Given the description of an element on the screen output the (x, y) to click on. 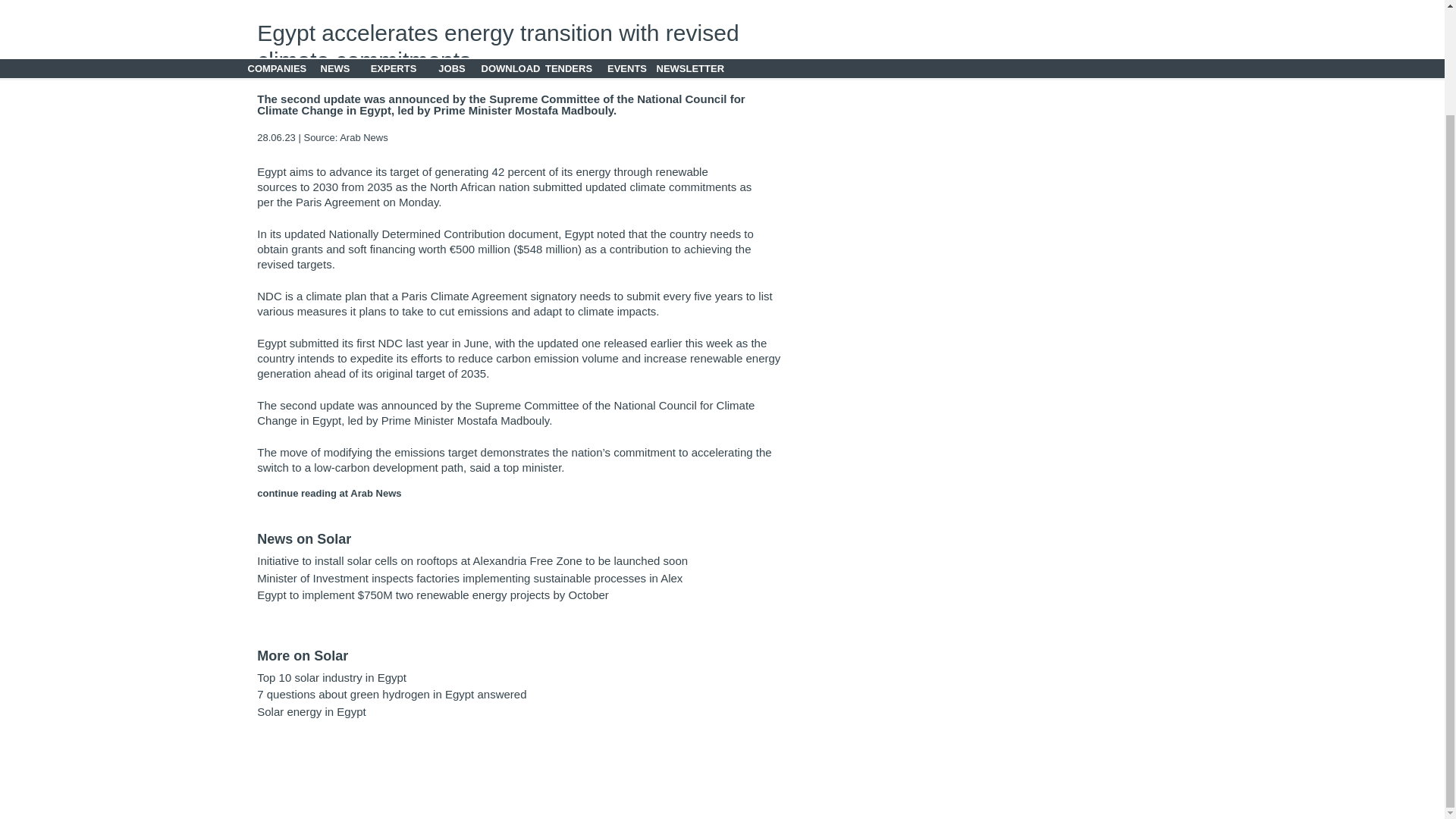
7 questions about green hydrogen in Egypt answered (391, 694)
Top 10 solar industry in Egypt (331, 676)
More on Solar (302, 654)
News on Solar (303, 539)
Solar energy in Egypt (311, 711)
continue reading at Arab News (329, 492)
